Given the description of an element on the screen output the (x, y) to click on. 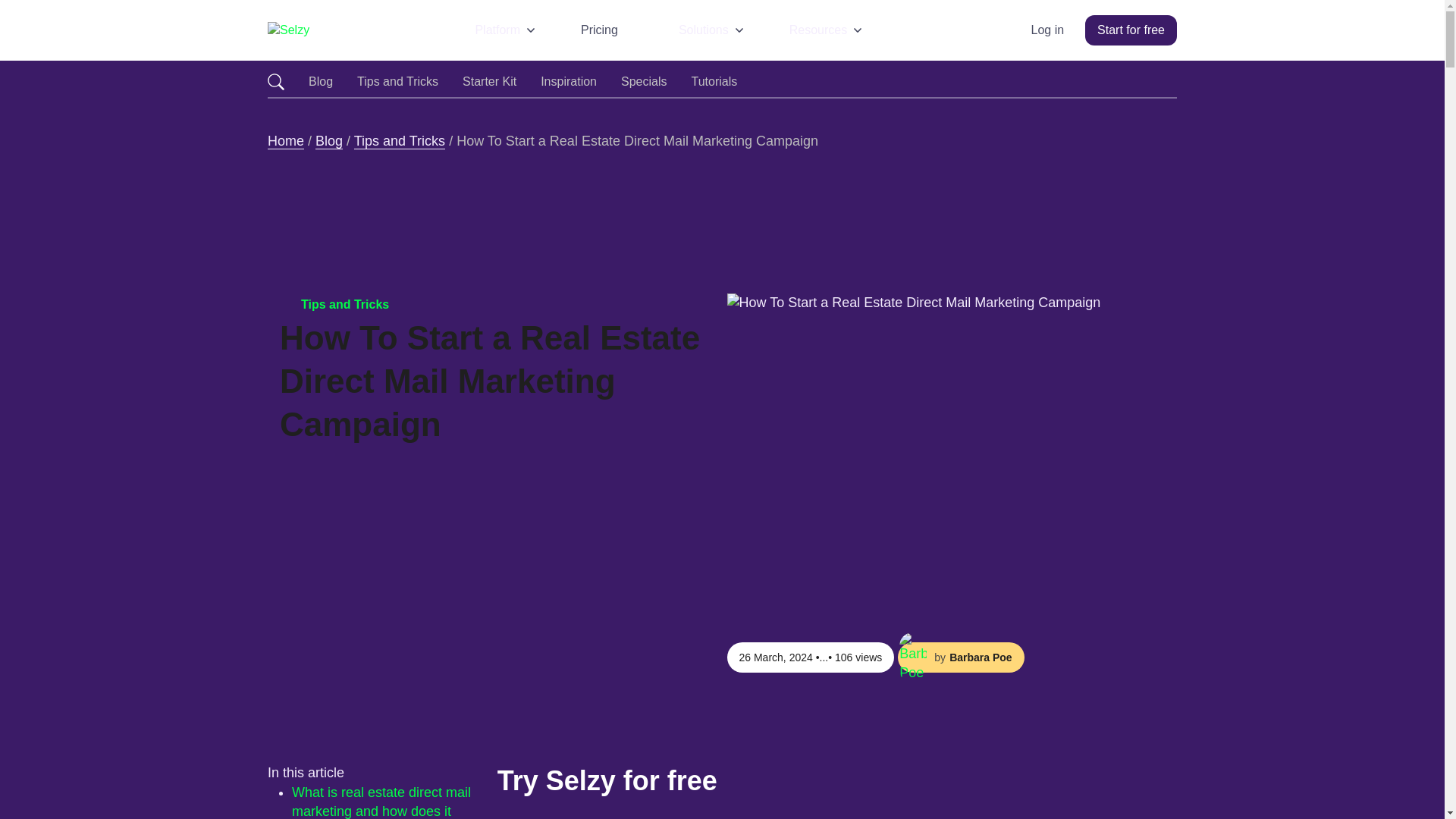
Resources (826, 29)
Inspiration (568, 81)
Log in (1047, 29)
Blog (320, 81)
Tutorials (713, 81)
Pricing (608, 29)
Tips and Tricks (397, 81)
Starter Kit (489, 81)
Start for free (1130, 30)
Search (275, 81)
